Given the description of an element on the screen output the (x, y) to click on. 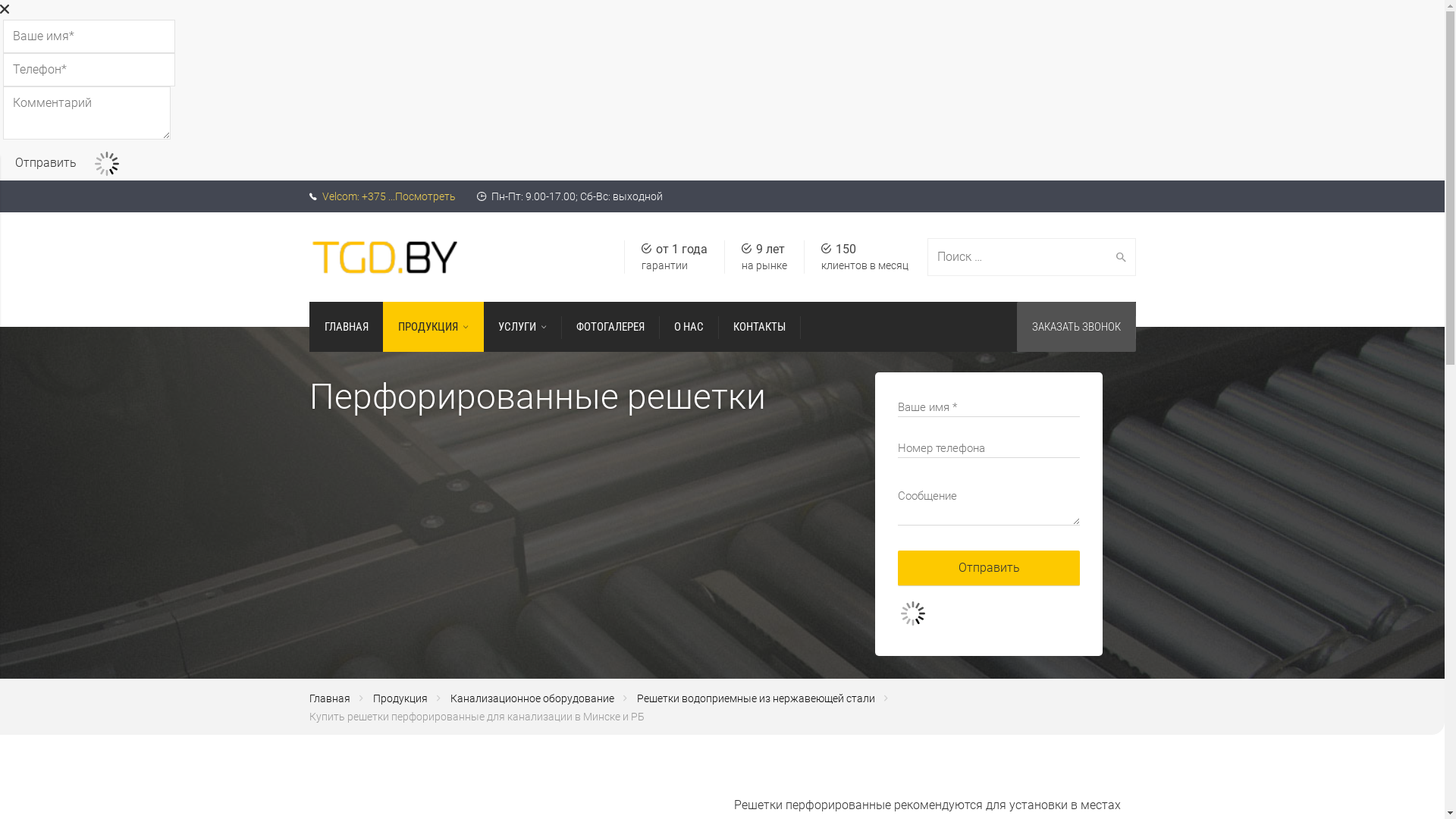
Search Element type: text (1117, 257)
